Given the description of an element on the screen output the (x, y) to click on. 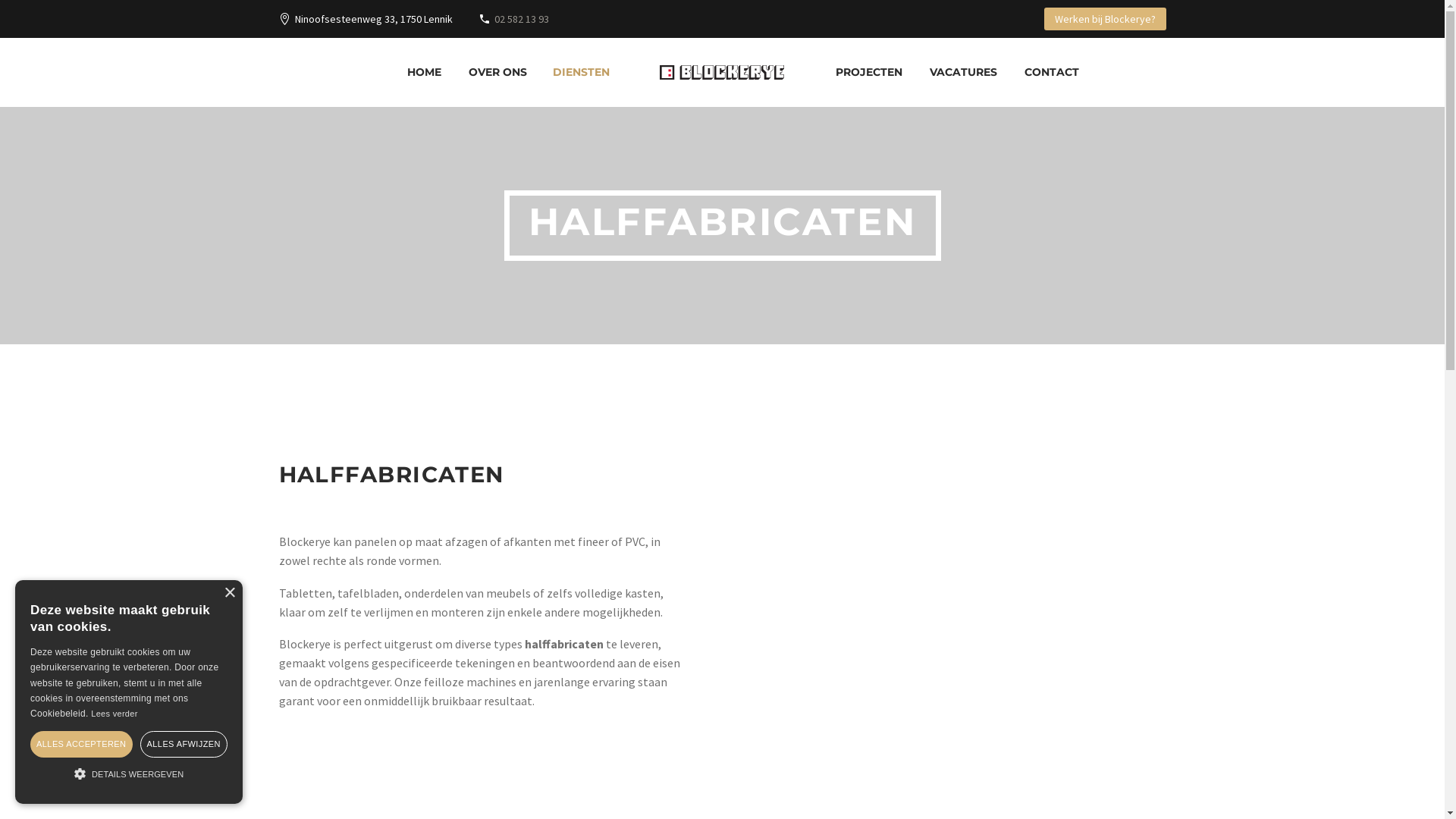
Lees verder Element type: text (114, 713)
CONTACT Element type: text (1051, 71)
Werken bij Blockerye? Element type: text (1104, 18)
02 582 13 93 Element type: text (521, 18)
HOME Element type: text (423, 71)
DIENSTEN Element type: text (581, 71)
OVER ONS Element type: text (497, 71)
VACATURES Element type: text (963, 71)
PROJECTEN Element type: text (868, 71)
